Given the description of an element on the screen output the (x, y) to click on. 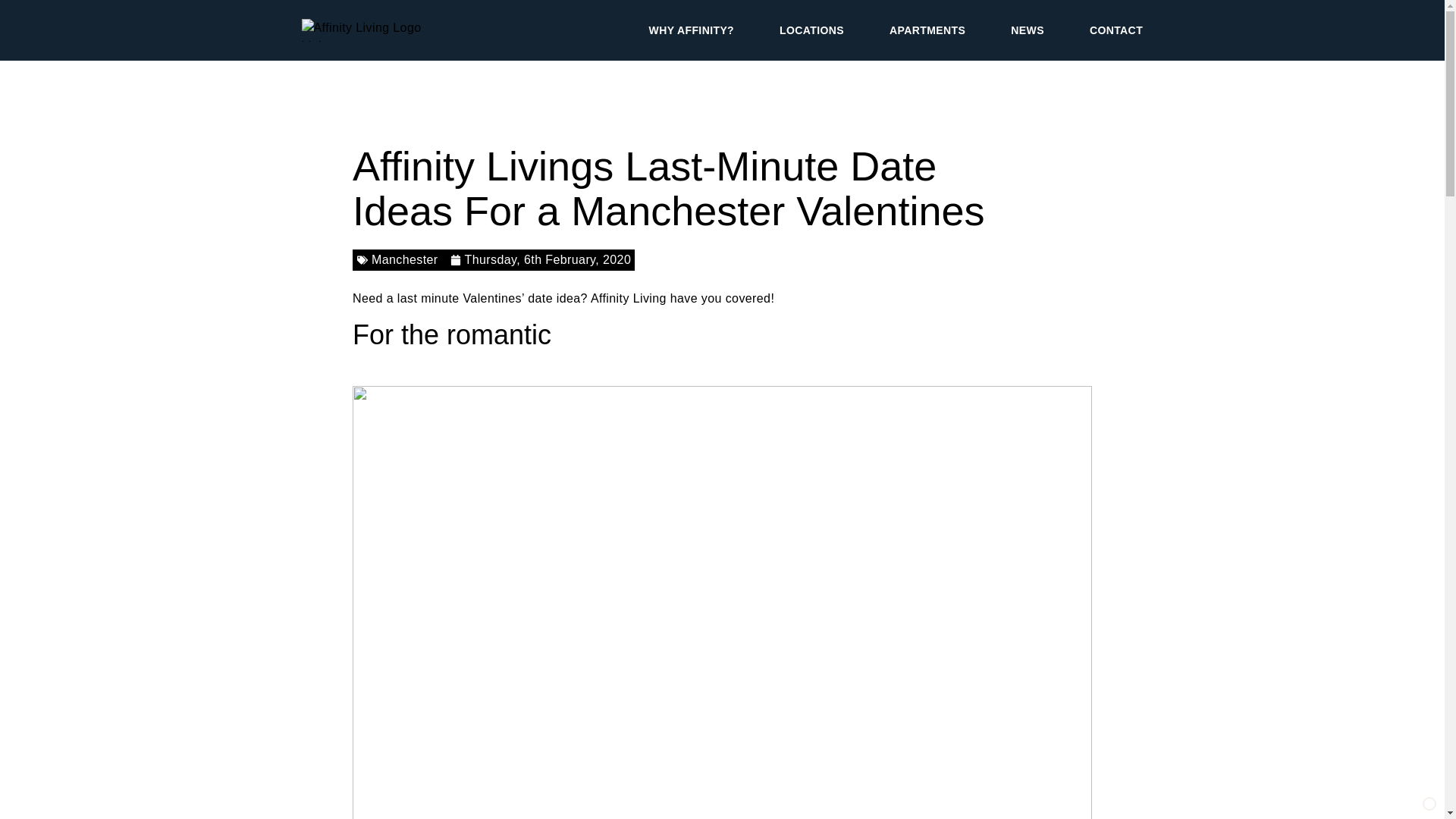
WHY AFFINITY? (691, 30)
CONTACT (1116, 30)
NEWS (1027, 30)
LOCATIONS (811, 30)
APARTMENTS (927, 30)
